Given the description of an element on the screen output the (x, y) to click on. 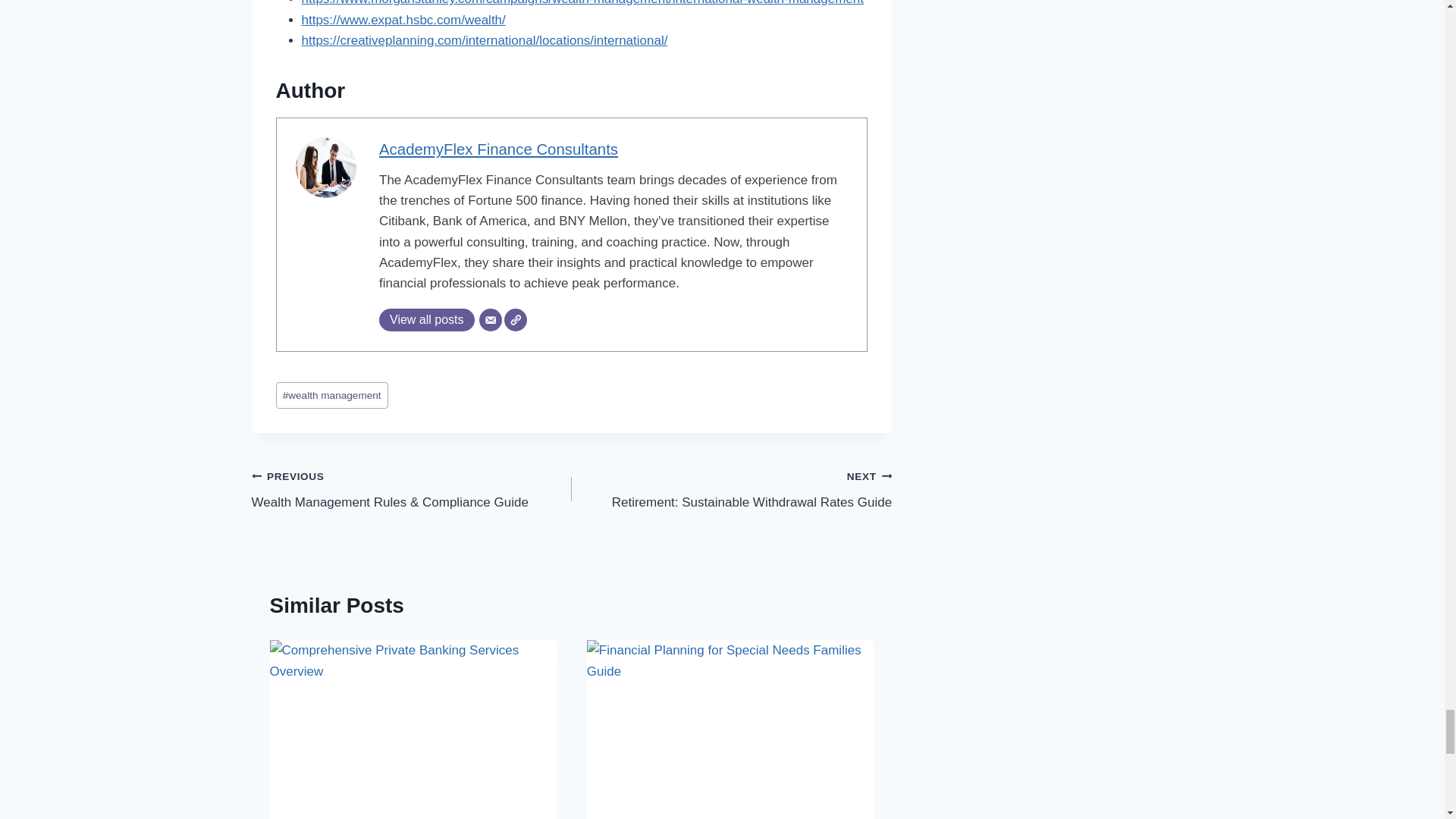
AcademyFlex Finance Consultants (497, 149)
wealth management (332, 395)
View all posts (426, 319)
View all posts (731, 489)
AcademyFlex Finance Consultants (426, 319)
